Given the description of an element on the screen output the (x, y) to click on. 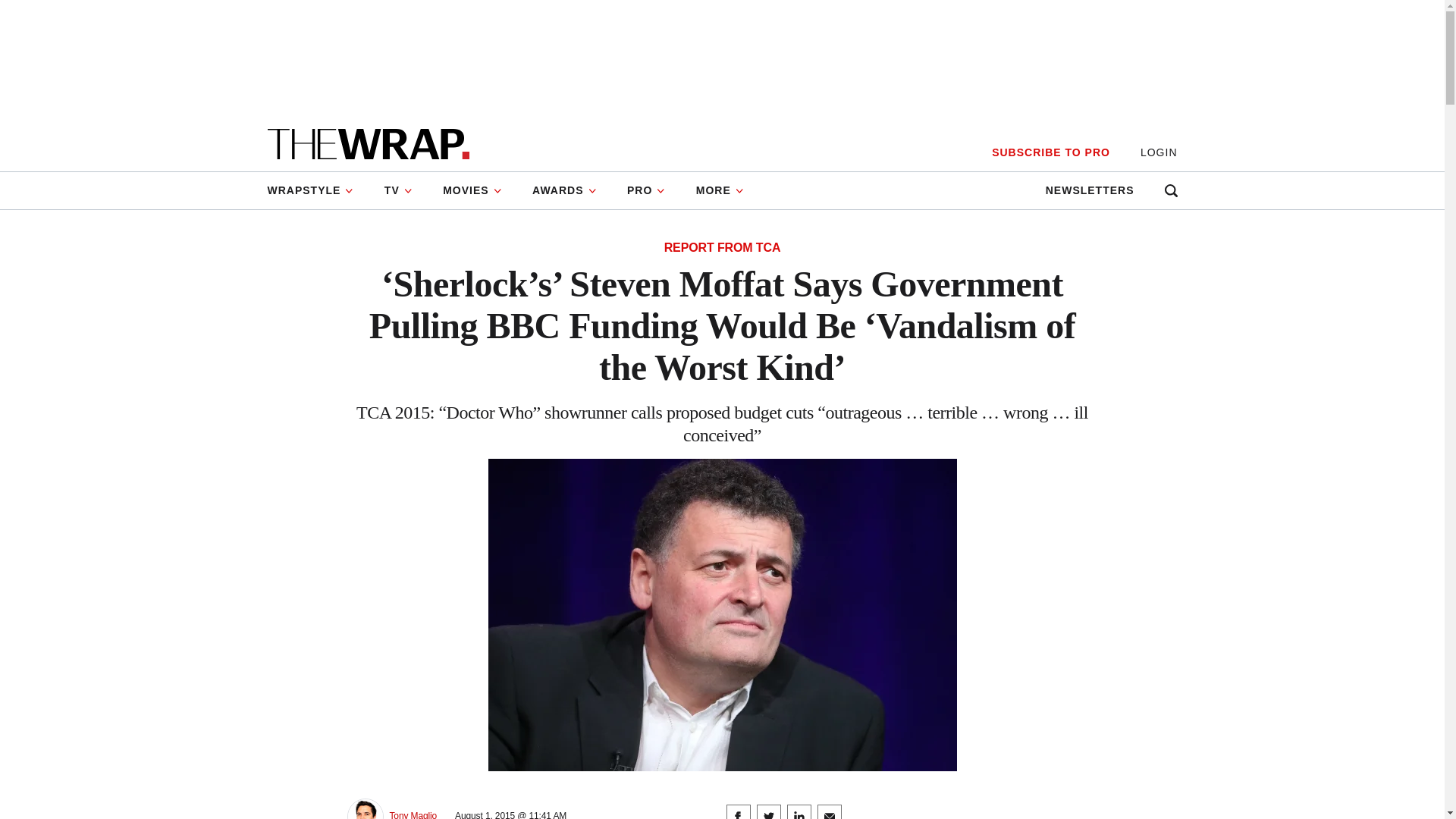
AWARDS (563, 190)
LOGIN (1158, 152)
PRO (646, 190)
TV (398, 190)
SUBSCRIBE TO PRO (1050, 152)
MORE (719, 190)
WRAPSTYLE (317, 190)
Posts by Tony Maglio (414, 814)
MOVIES (472, 190)
